Given the description of an element on the screen output the (x, y) to click on. 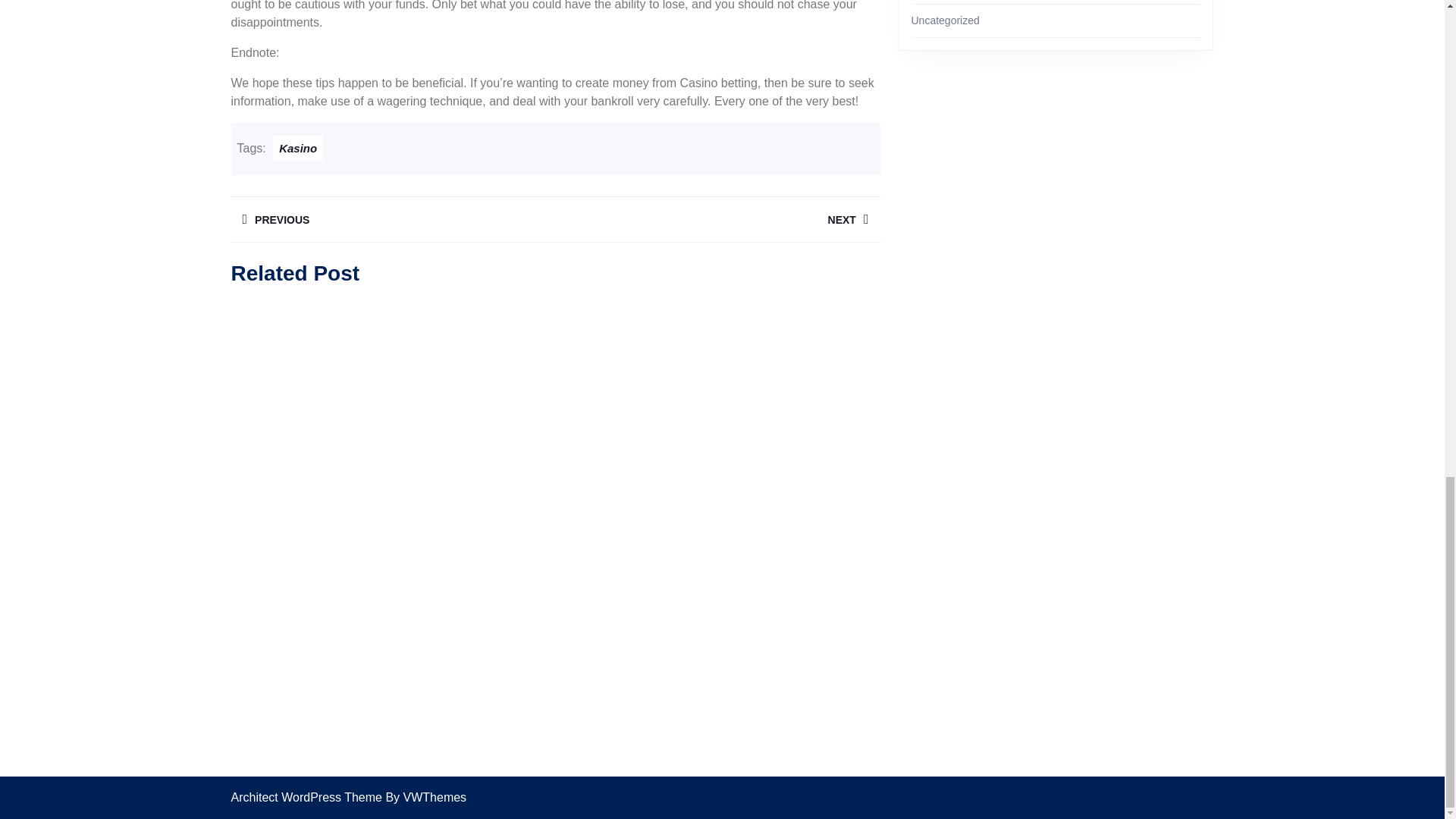
Kasino (298, 147)
